Given the description of an element on the screen output the (x, y) to click on. 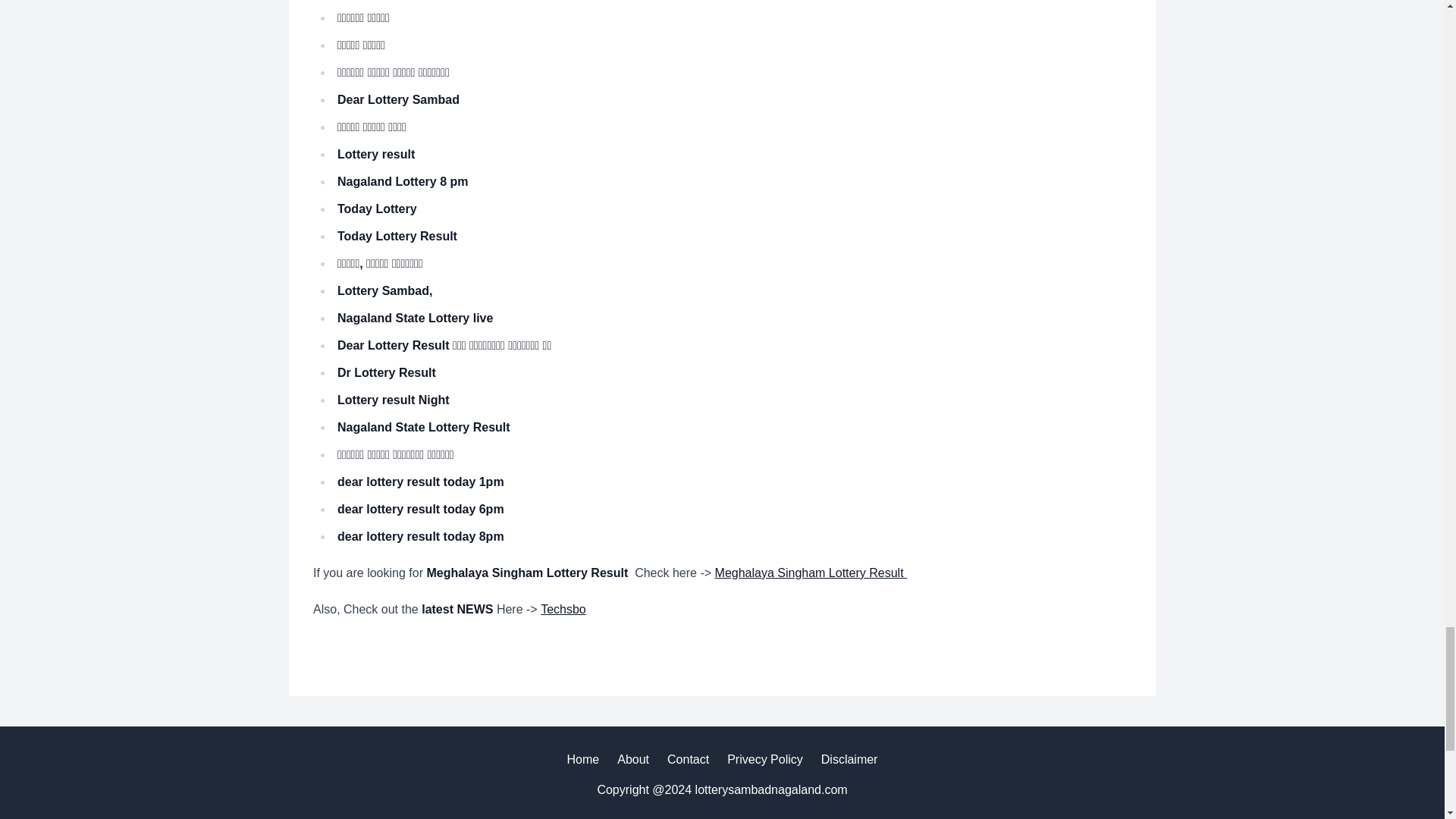
Contact (687, 760)
Techsbo (563, 608)
About (633, 760)
Disclaimer (849, 760)
Techsbo (563, 608)
Meghalaya Singham Lottery Result  (810, 572)
Privecy Policy (764, 760)
Home (583, 760)
